Given the description of an element on the screen output the (x, y) to click on. 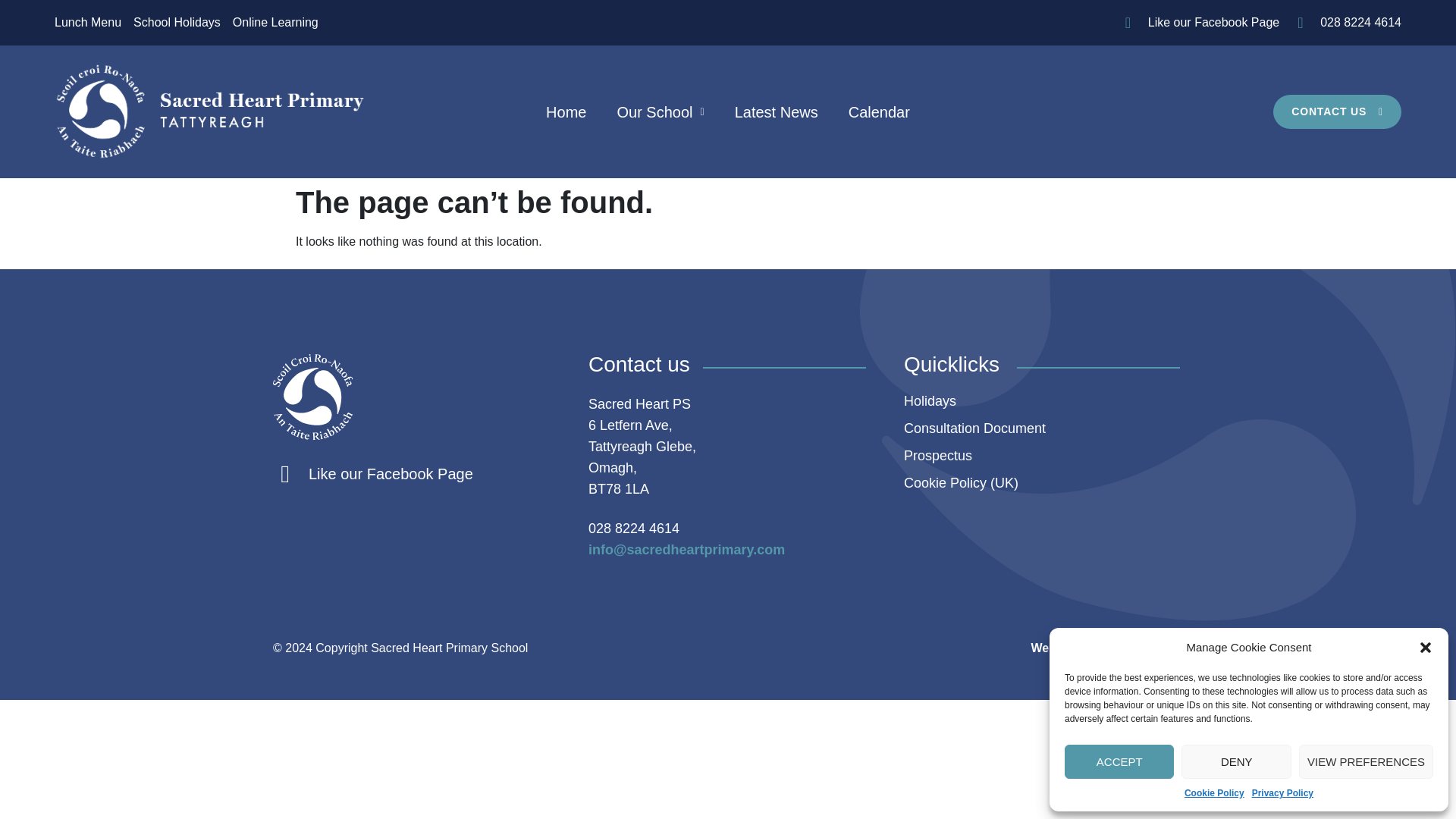
Latest News (776, 111)
Our School (659, 111)
School Holidays (177, 22)
Like our Facebook Page (1202, 22)
Online Learning (275, 22)
Calendar (879, 111)
028 8224 4614 (1348, 22)
Home (566, 111)
Lunch Menu (87, 22)
